Given the description of an element on the screen output the (x, y) to click on. 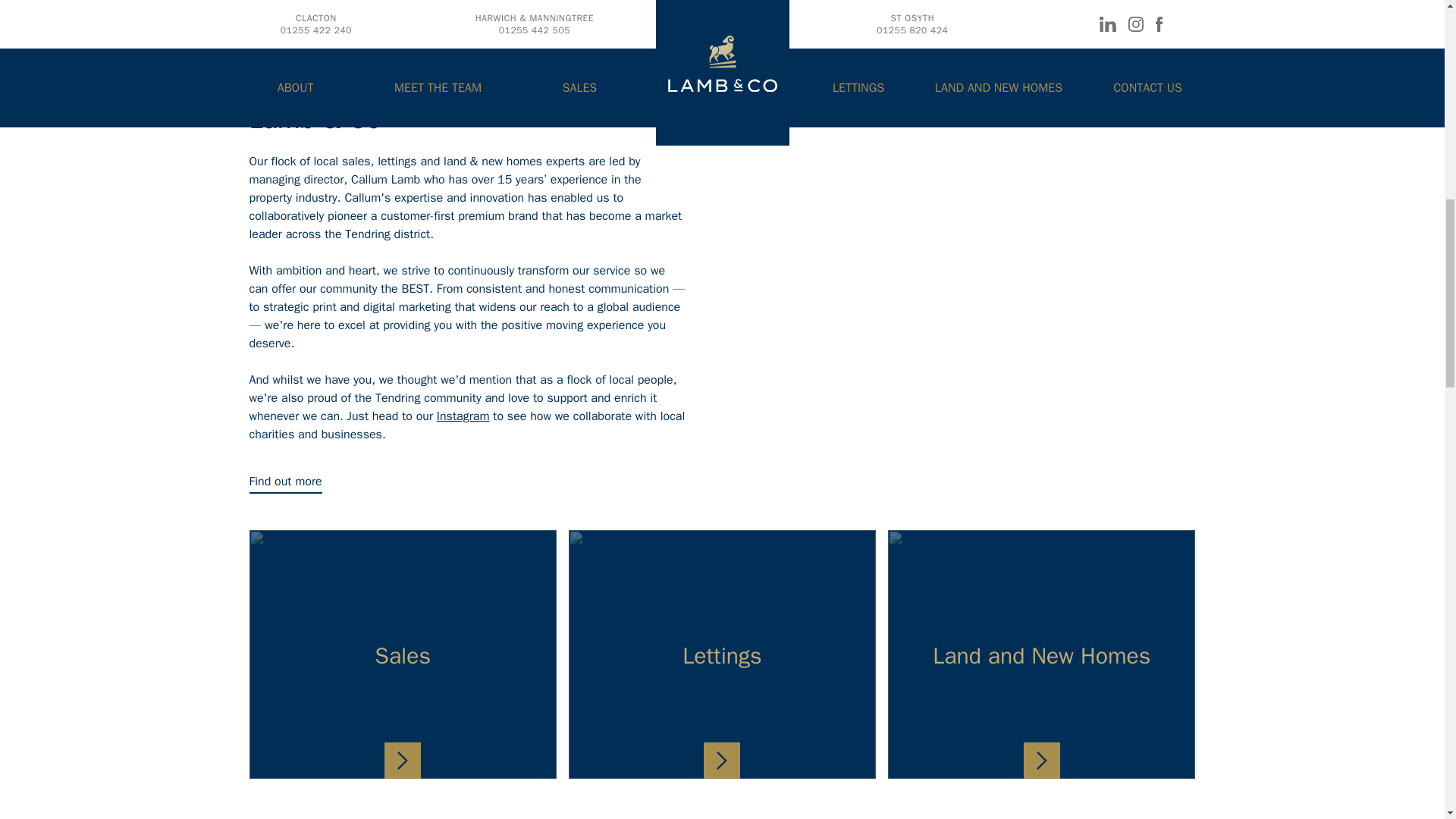
Find out more (284, 483)
Sales (402, 653)
Lettings (722, 653)
Instagram (462, 415)
Land and New Homes (1041, 653)
